Given the description of an element on the screen output the (x, y) to click on. 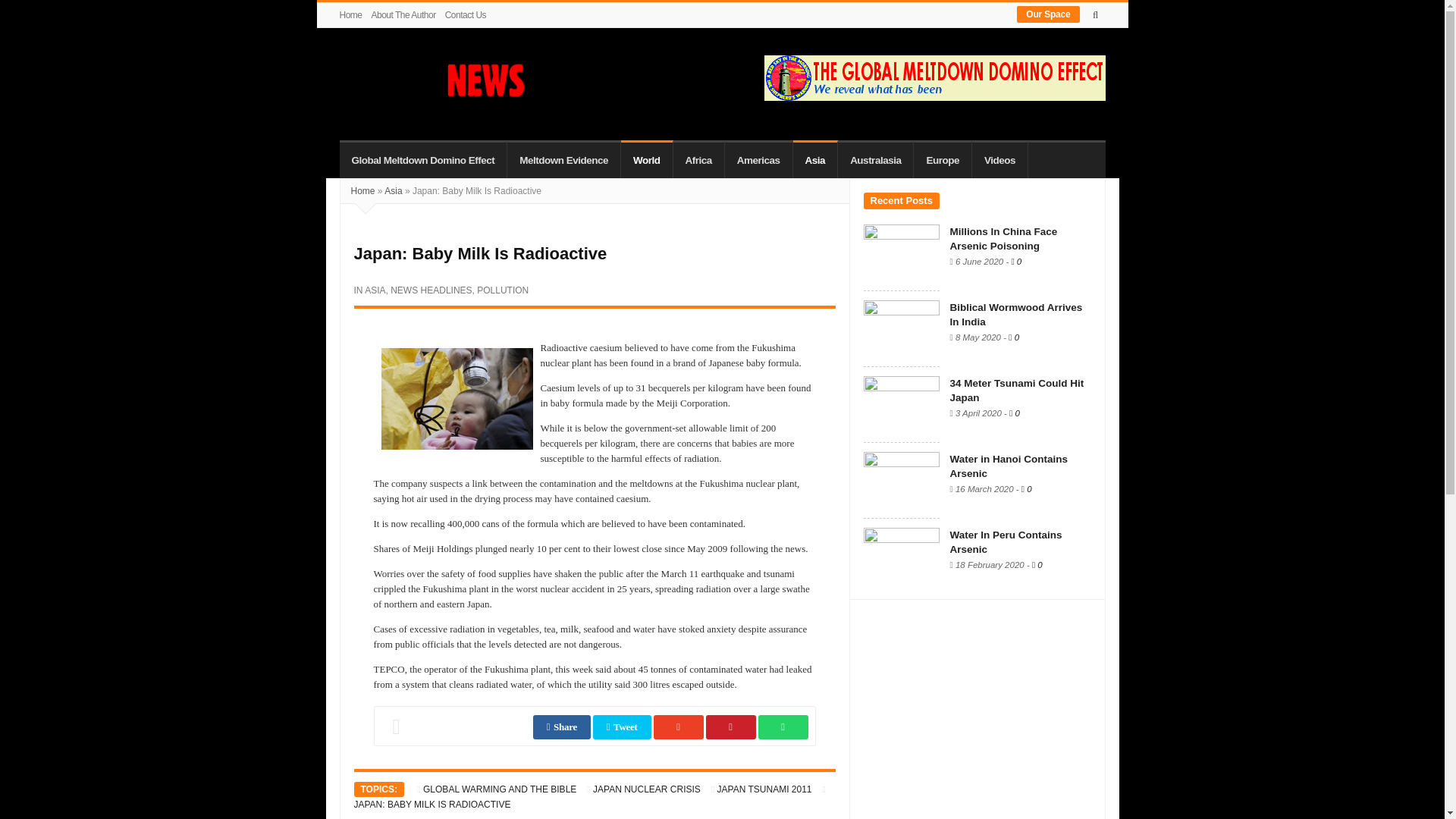
Africa (698, 159)
Americas (759, 159)
Home (352, 14)
Global Meltdown Domino Effect (423, 159)
Meltdown Evidence (563, 159)
Contact Us (465, 14)
About The Author (403, 14)
World (646, 159)
